Given the description of an element on the screen output the (x, y) to click on. 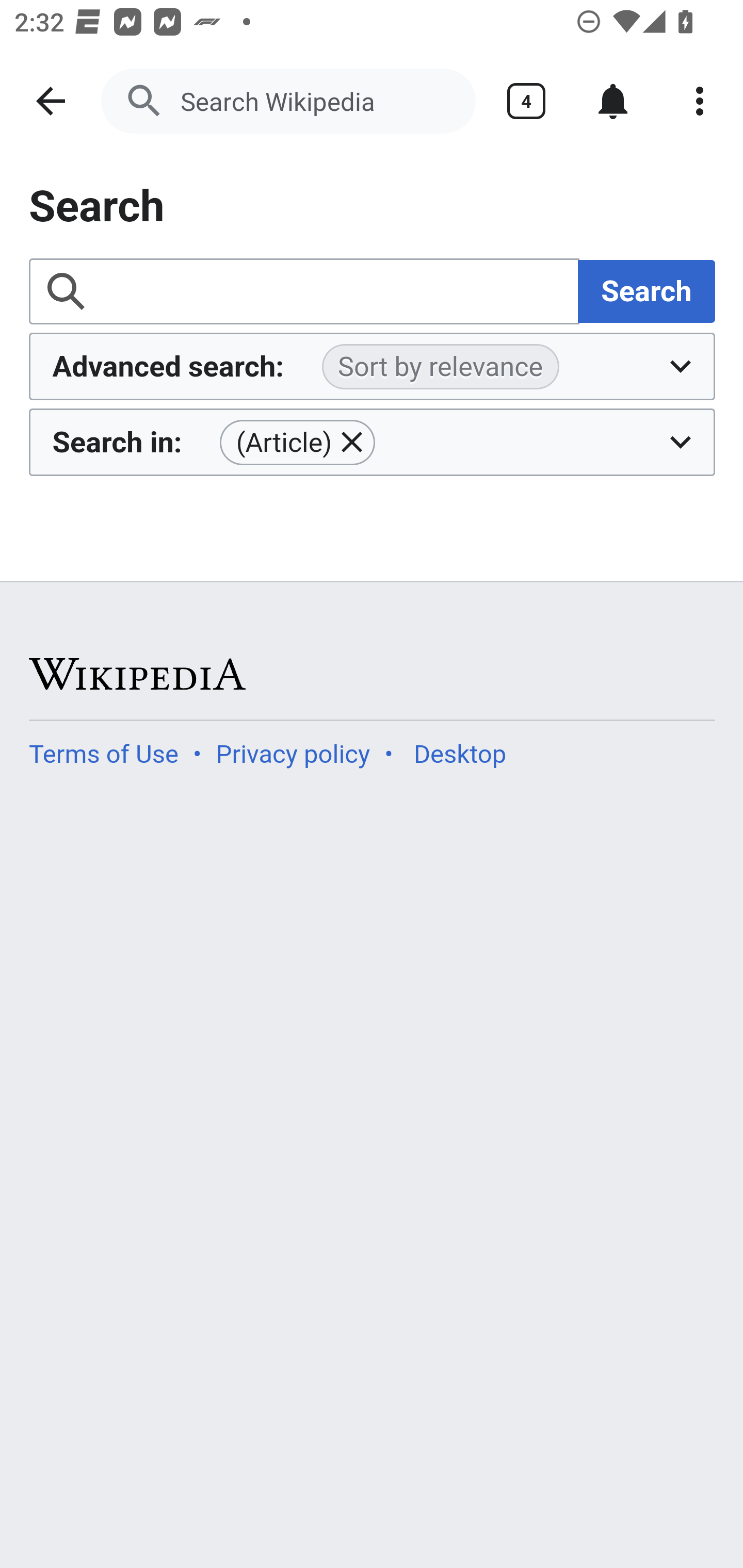
Show tabs 4 (525, 100)
Notifications (612, 100)
Navigate up (50, 101)
More options (699, 101)
Search Wikipedia (288, 100)
Search (645, 290)
Advanced search:Sort by relevance (372, 366)
Search in:(Article) Remove (372, 441)
Terms of Use (104, 753)
Privacy policy (293, 753)
Desktop (459, 753)
